Given the description of an element on the screen output the (x, y) to click on. 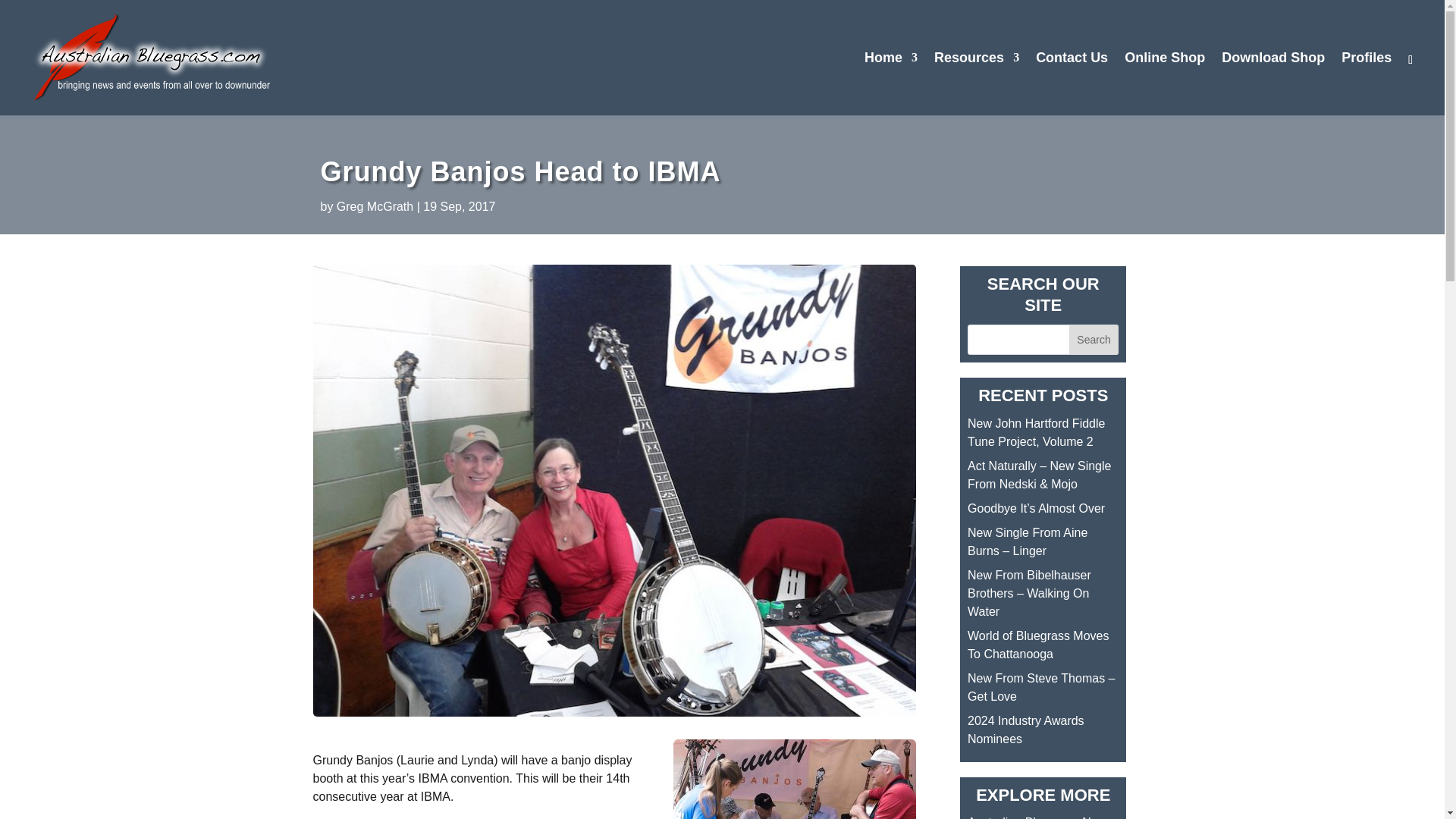
Contact Us (1071, 83)
Online Shop (1164, 83)
Send an email from this web page (1071, 83)
Download Shop (1272, 83)
Posts by Greg McGrath (374, 205)
Search (1093, 339)
Greg McGrath (374, 205)
Resources (976, 83)
World of Bluegrass Moves To Chattanooga (1038, 644)
